Given the description of an element on the screen output the (x, y) to click on. 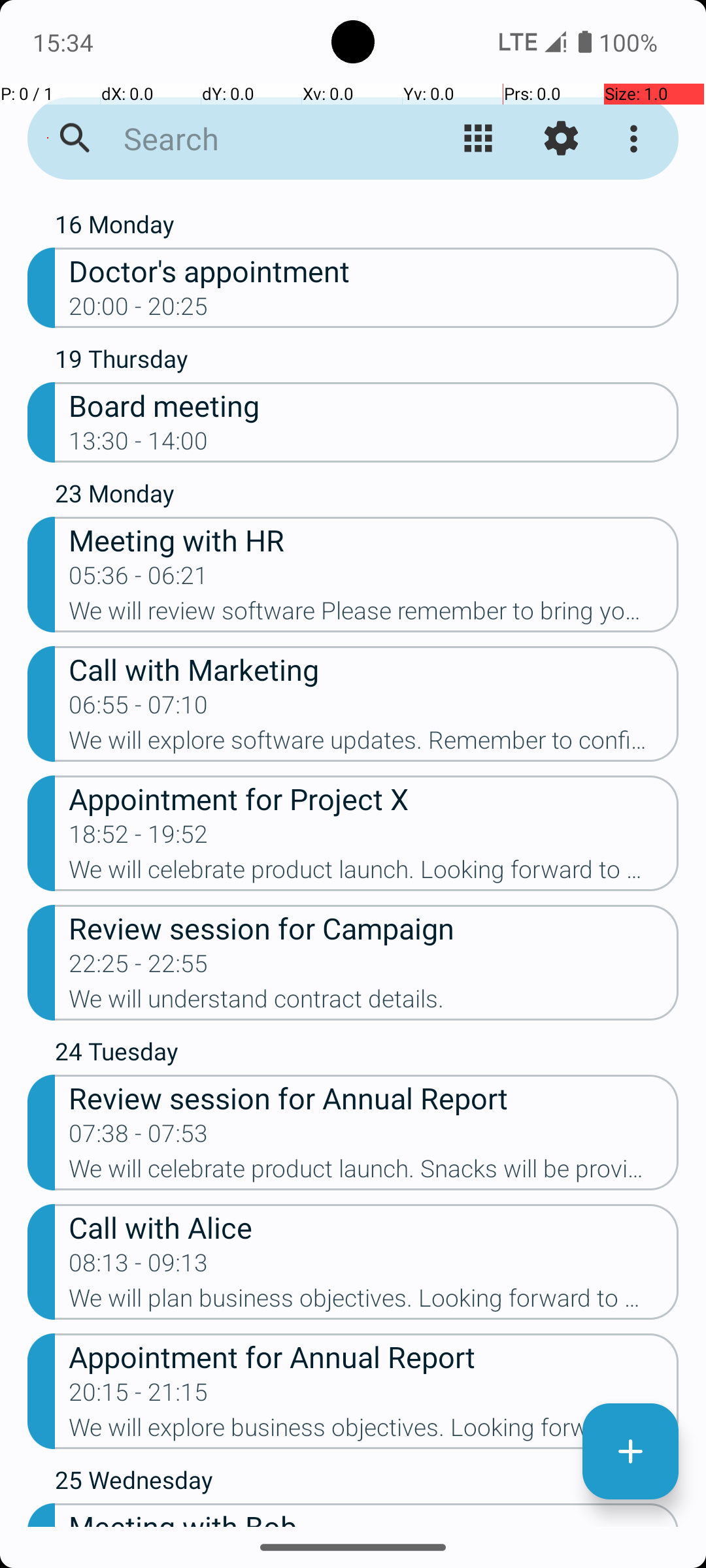
25 Wednesday Element type: android.widget.TextView (366, 1482)
Doctor's appointment Element type: android.widget.TextView (373, 269)
20:00 - 20:25 Element type: android.widget.TextView (137, 309)
Board meeting Element type: android.widget.TextView (373, 404)
13:30 - 14:00 Element type: android.widget.TextView (137, 444)
05:36 - 06:21 Element type: android.widget.TextView (137, 579)
We will review software Please remember to bring your laptop and charger. updates. Snacks will be provided. Element type: android.widget.TextView (373, 614)
06:55 - 07:10 Element type: android.widget.TextView (137, 708)
We will explore software updates. Remember to confirm attendance. Element type: android.widget.TextView (373, 743)
18:52 - 19:52 Element type: android.widget.TextView (137, 837)
We will celebrate product launch. Looking forward to productive discussions. Element type: android.widget.TextView (373, 873)
22:25 - 22:55 Element type: android.widget.TextView (137, 967)
We will understand contract details. Element type: android.widget.TextView (373, 1002)
07:38 - 07:53 Element type: android.widget.TextView (137, 1137)
We will celebrate product launch. Snacks will be provided. Element type: android.widget.TextView (373, 1172)
08:13 - 09:13 Element type: android.widget.TextView (137, 1266)
We will plan business objectives. Looking forward to productive discussions. Element type: android.widget.TextView (373, 1301)
20:15 - 21:15 Element type: android.widget.TextView (137, 1395)
We will explore business objectives. Looking forward to productive discussions. Element type: android.widget.TextView (373, 1431)
